Given the description of an element on the screen output the (x, y) to click on. 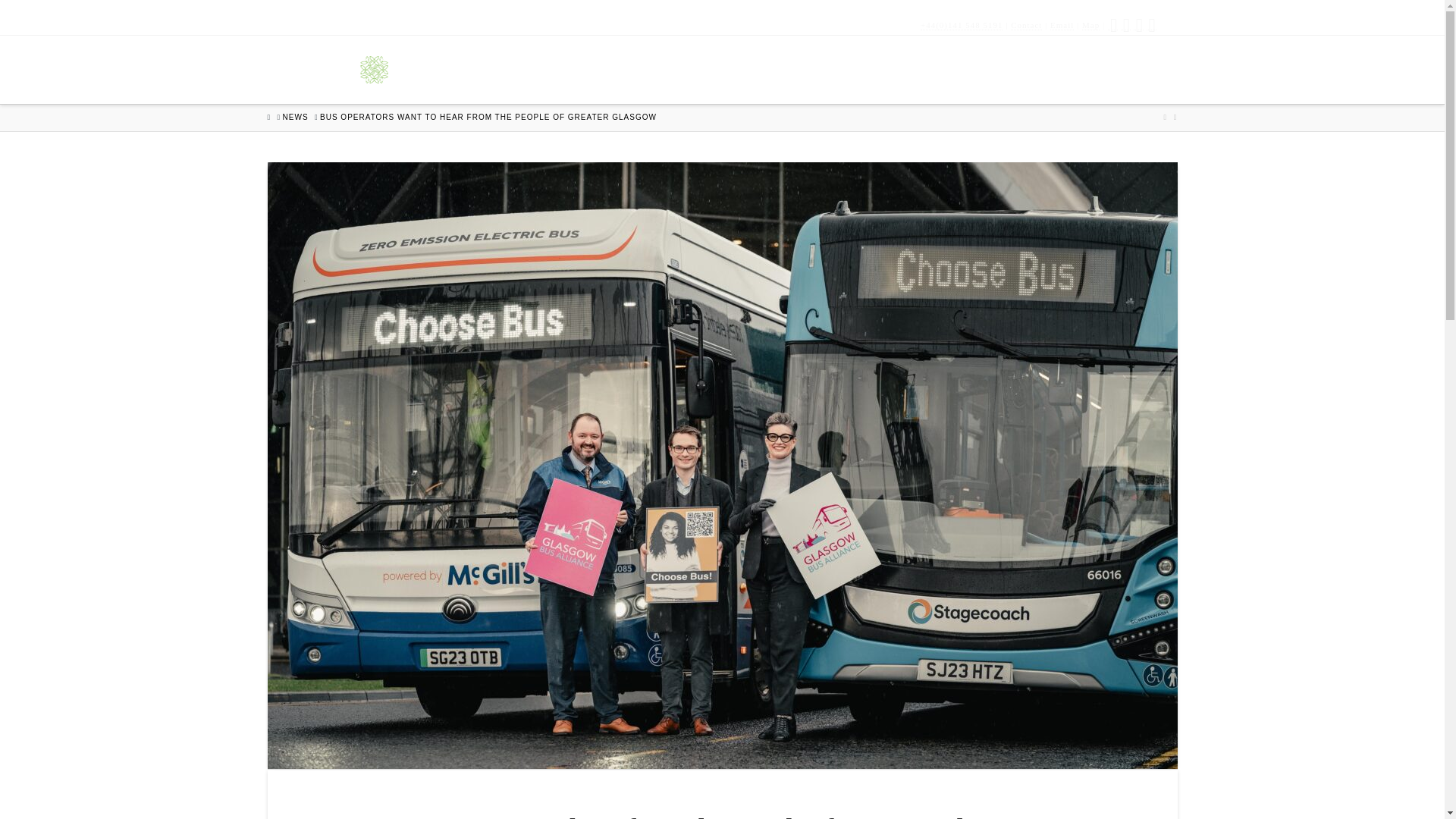
TEAM (711, 69)
Map (1090, 25)
You Are Here (488, 117)
Contact (1026, 25)
SERVICES (1007, 69)
CLIENTS (795, 69)
NEWS (1095, 69)
OUR WORK (899, 69)
NEWS (295, 117)
